Given the description of an element on the screen output the (x, y) to click on. 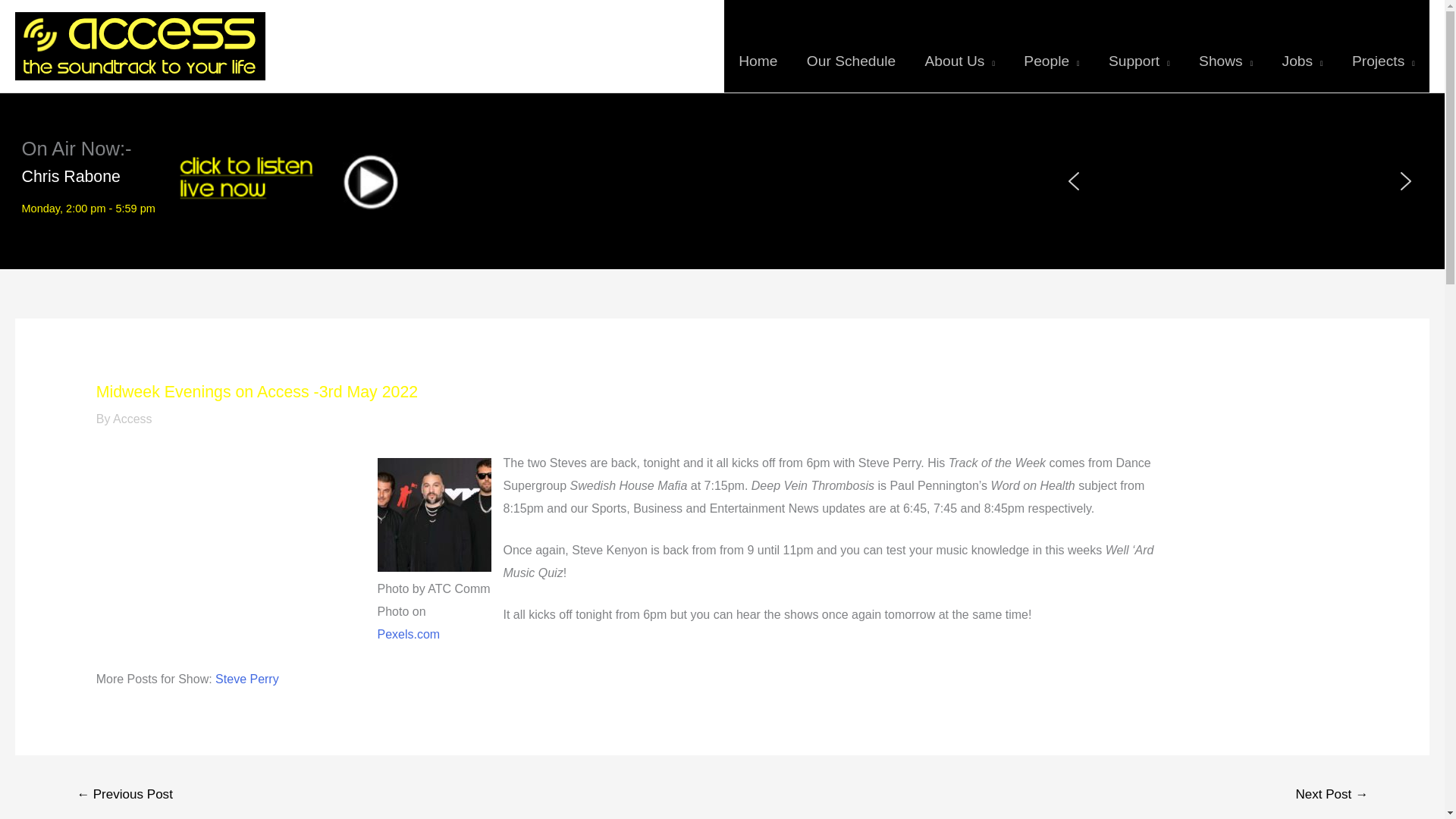
Previous Related Show Post (124, 796)
Projects (1383, 46)
Shows (1225, 46)
Chris Rabone (70, 176)
View all posts by Access (132, 418)
Next Related Show Post (1331, 796)
People (1051, 46)
About Us (959, 46)
Support (1139, 46)
Our Schedule (851, 46)
Access (132, 418)
